Given the description of an element on the screen output the (x, y) to click on. 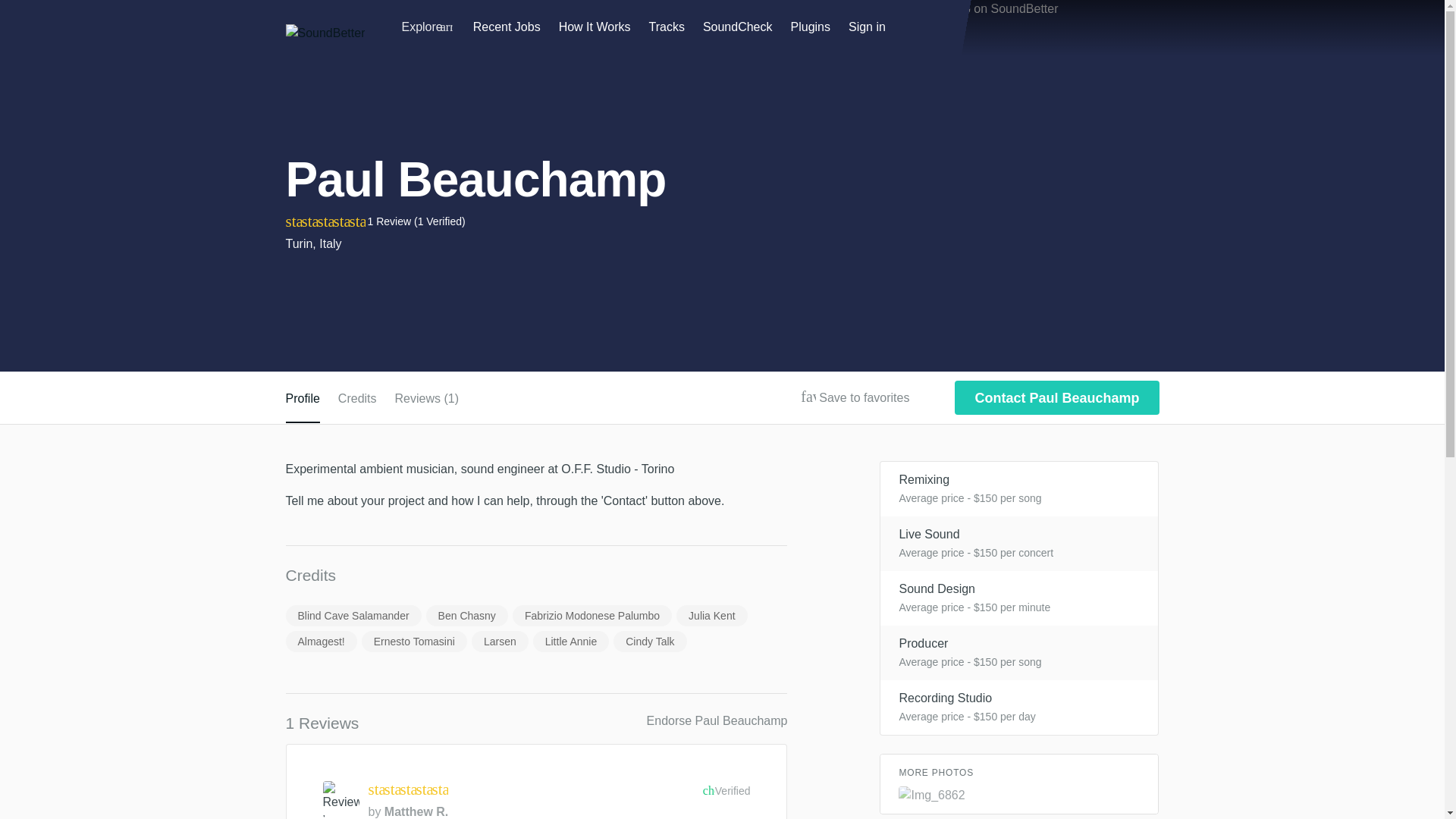
SoundBetter (325, 33)
